Given the description of an element on the screen output the (x, y) to click on. 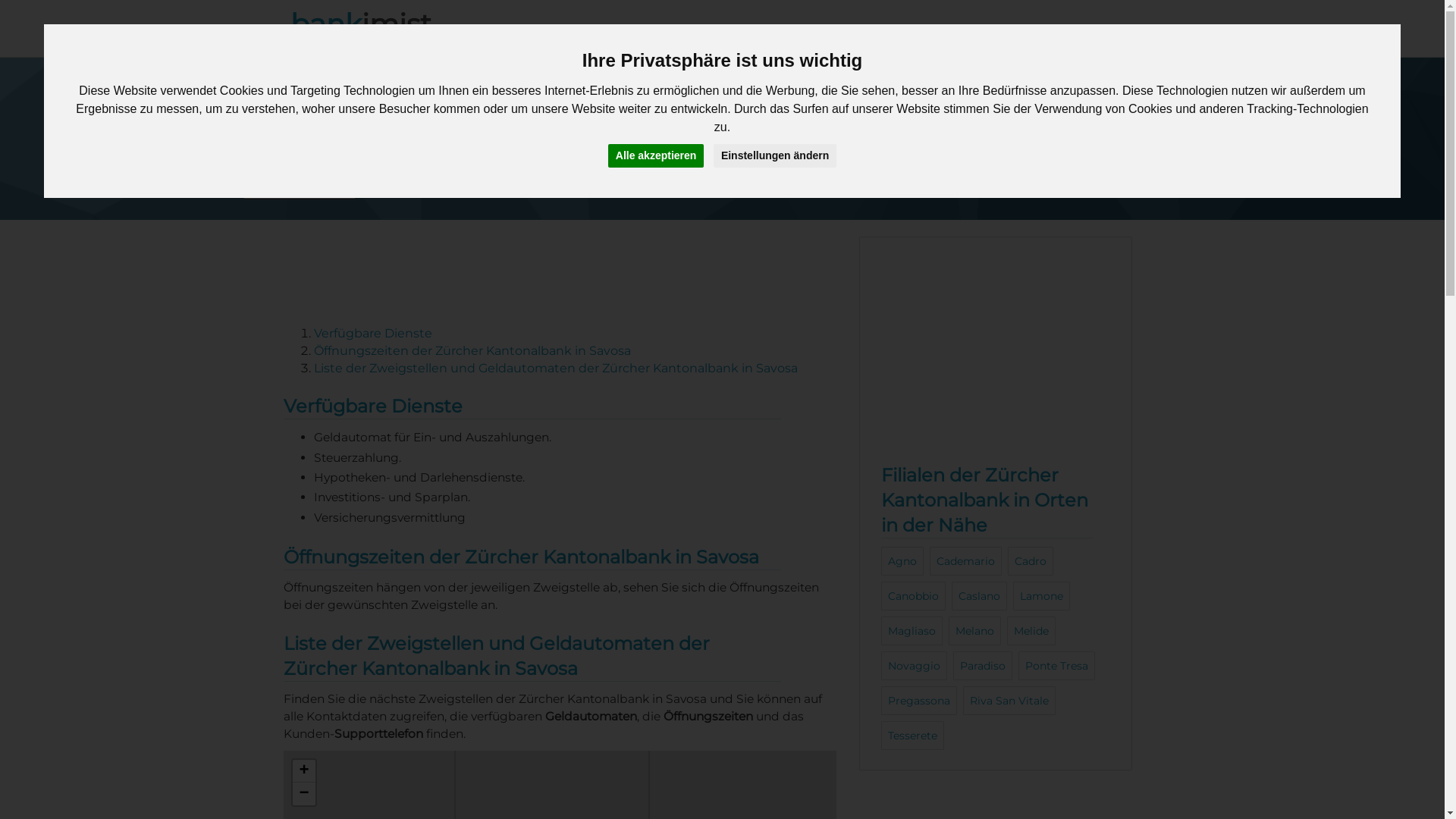
Pregassona Element type: text (919, 700)
Paradiso Element type: text (982, 665)
Lamone Element type: text (1041, 595)
Alle akzeptieren Element type: text (656, 155)
Tesserete Element type: text (912, 735)
Melide Element type: text (1030, 630)
Agno Element type: text (902, 560)
Riva San Vitale Element type: text (1008, 700)
Canobbio Element type: text (913, 595)
Magliaso Element type: text (911, 630)
Melano Element type: text (974, 630)
Cadro Element type: text (1030, 560)
Caslano Element type: text (979, 595)
Sprachen Element type: text (1103, 31)
Ponte Tresa Element type: text (1056, 665)
Startseite Element type: text (408, 164)
Novaggio Element type: text (914, 665)
+ Element type: text (303, 770)
Bank suchen Element type: text (992, 31)
bankimist.
Geldautomaten in Schweiz Element type: text (367, 31)
Cademario Element type: text (965, 560)
